Given the description of an element on the screen output the (x, y) to click on. 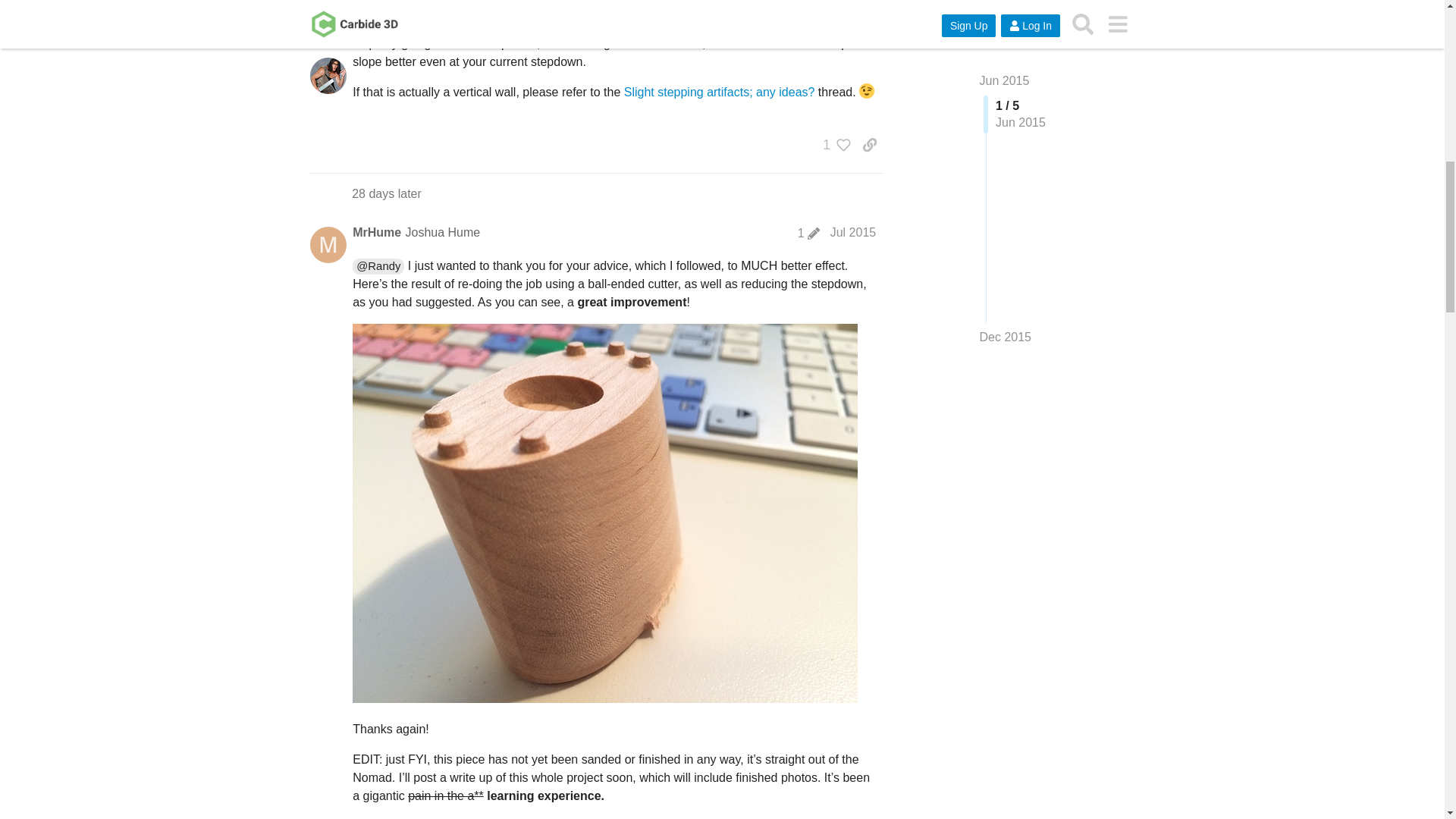
1 (832, 144)
1 (808, 233)
Slight stepping artifacts; any ideas? (719, 91)
MrHume (376, 232)
Jul 2015 (852, 232)
Joshua Hume (442, 232)
